Given the description of an element on the screen output the (x, y) to click on. 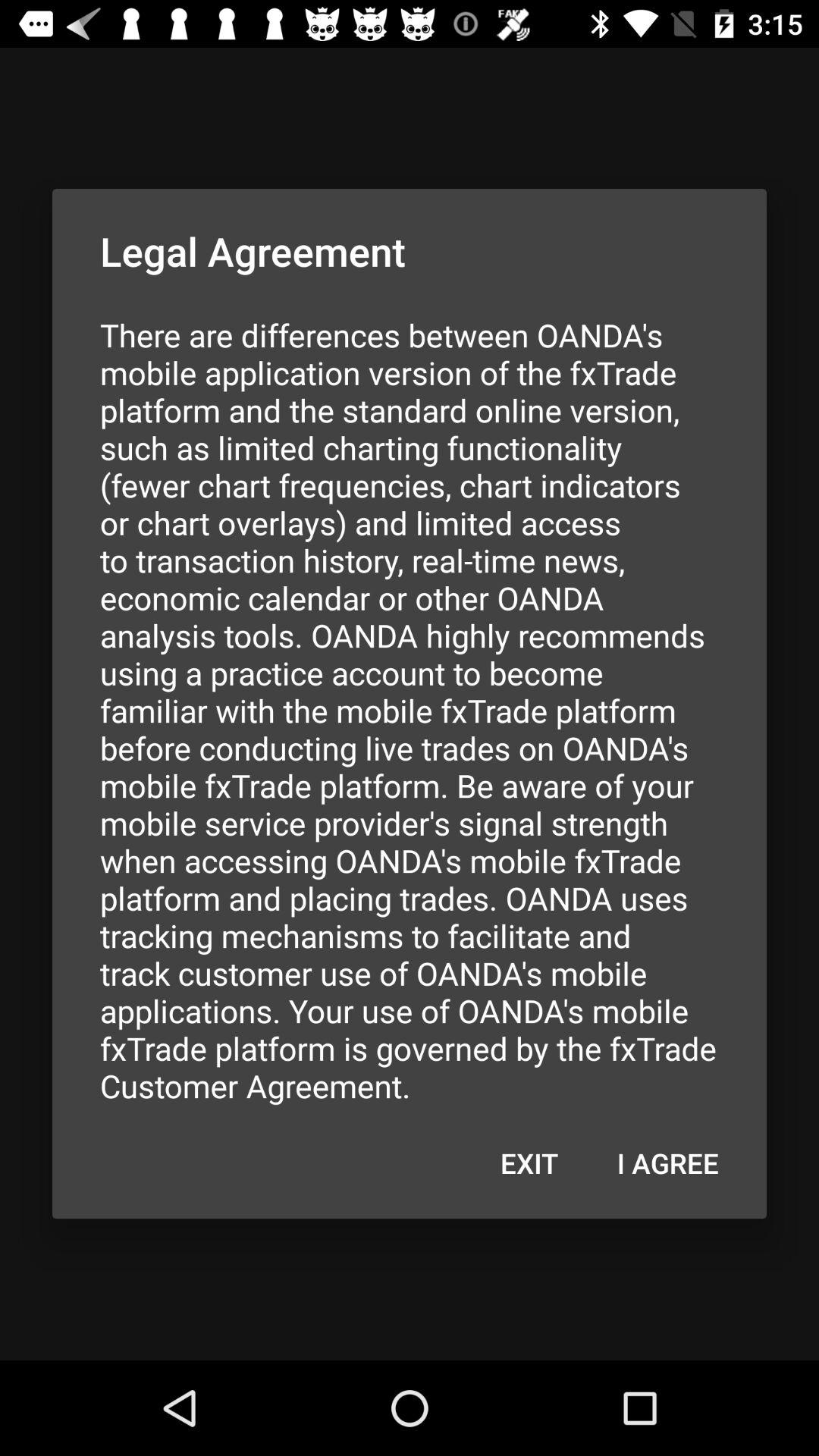
scroll until exit item (529, 1162)
